Given the description of an element on the screen output the (x, y) to click on. 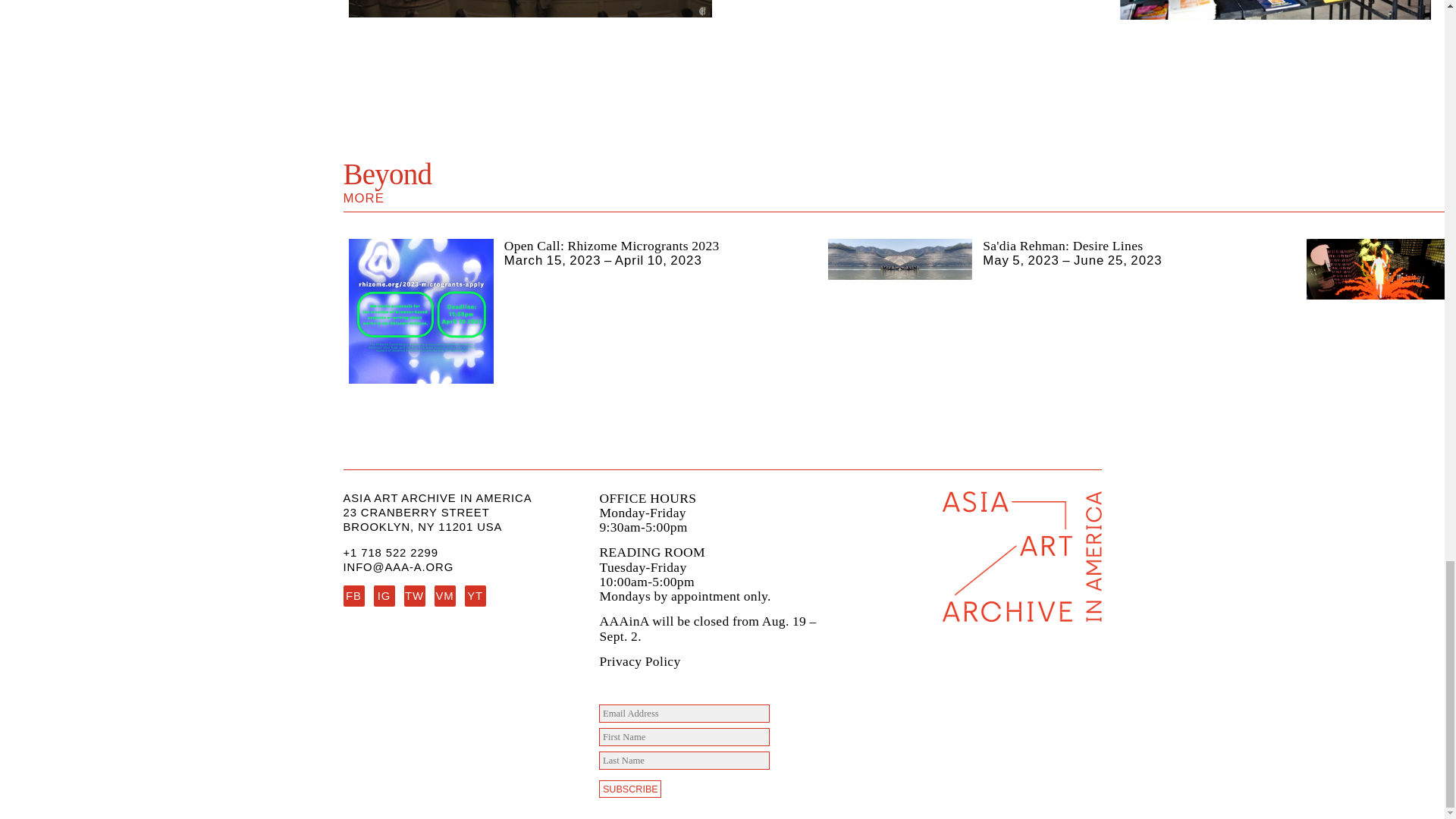
Subscribe (629, 788)
